Given the description of an element on the screen output the (x, y) to click on. 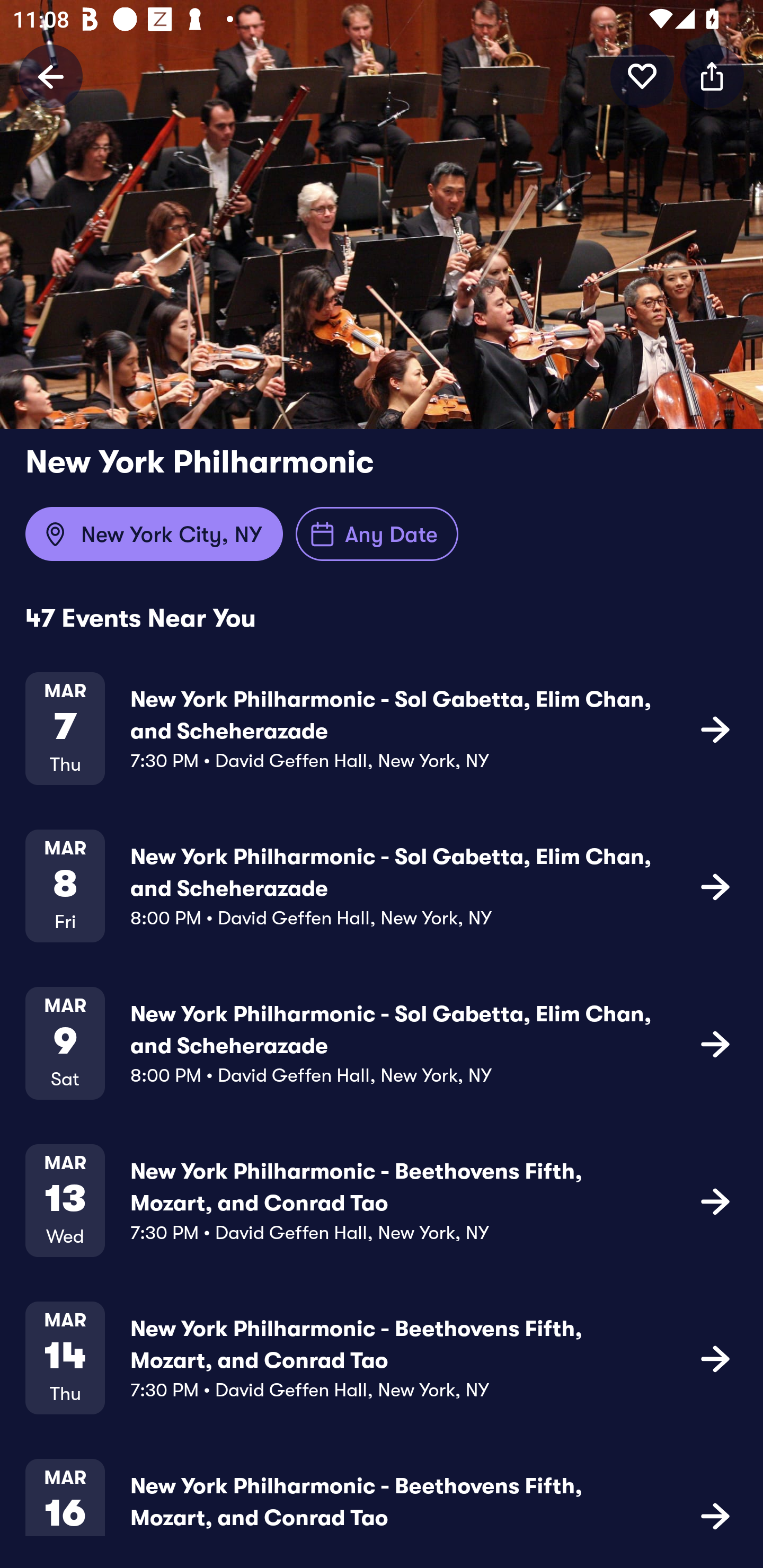
Back (50, 75)
icon button (641, 75)
icon button (711, 75)
New York City, NY (153, 533)
Any Date (377, 533)
icon button (714, 729)
icon button (714, 885)
icon button (714, 1043)
icon button (714, 1201)
icon button (714, 1357)
icon button (714, 1514)
